Given the description of an element on the screen output the (x, y) to click on. 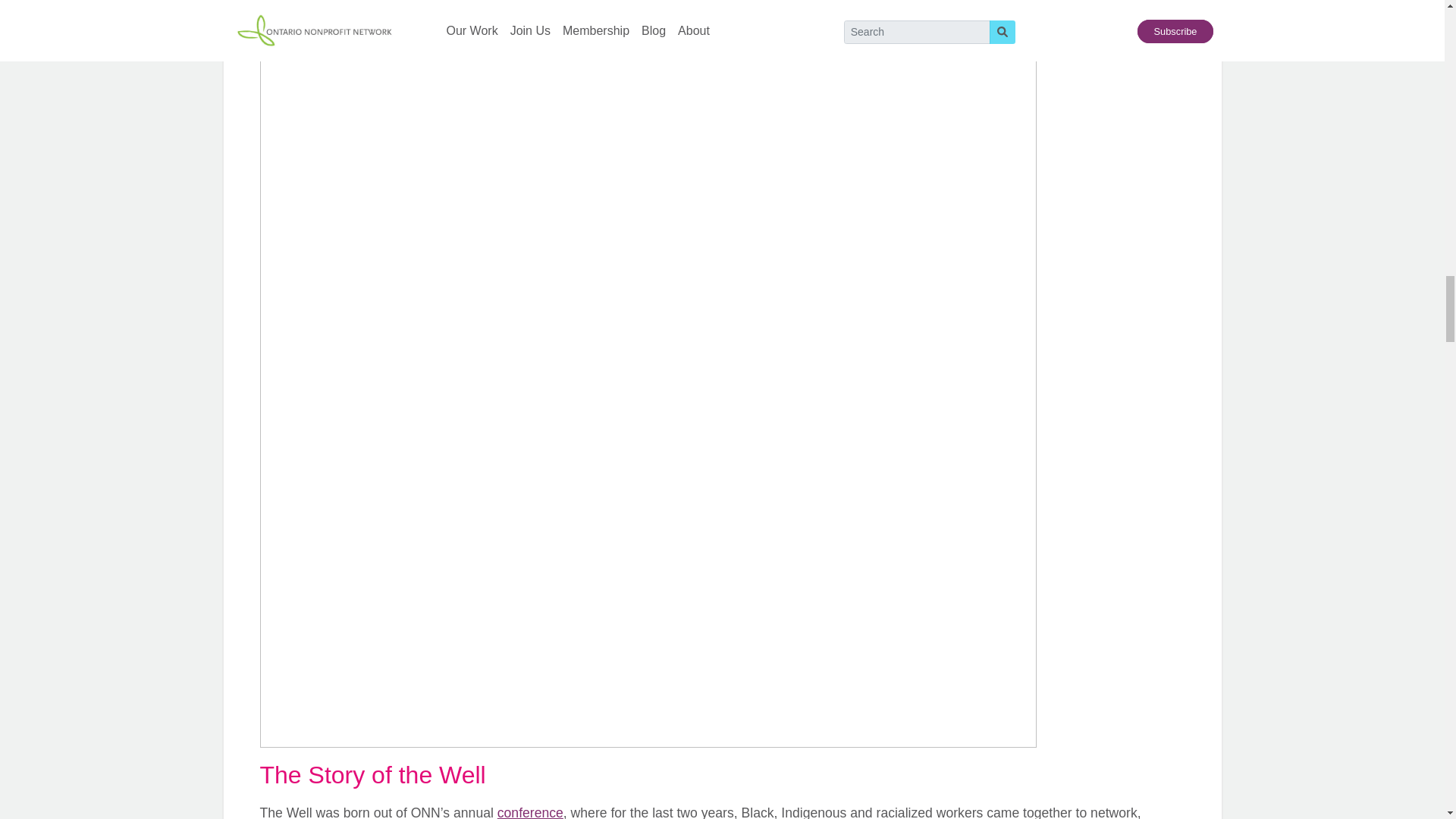
conference (530, 812)
